Given the description of an element on the screen output the (x, y) to click on. 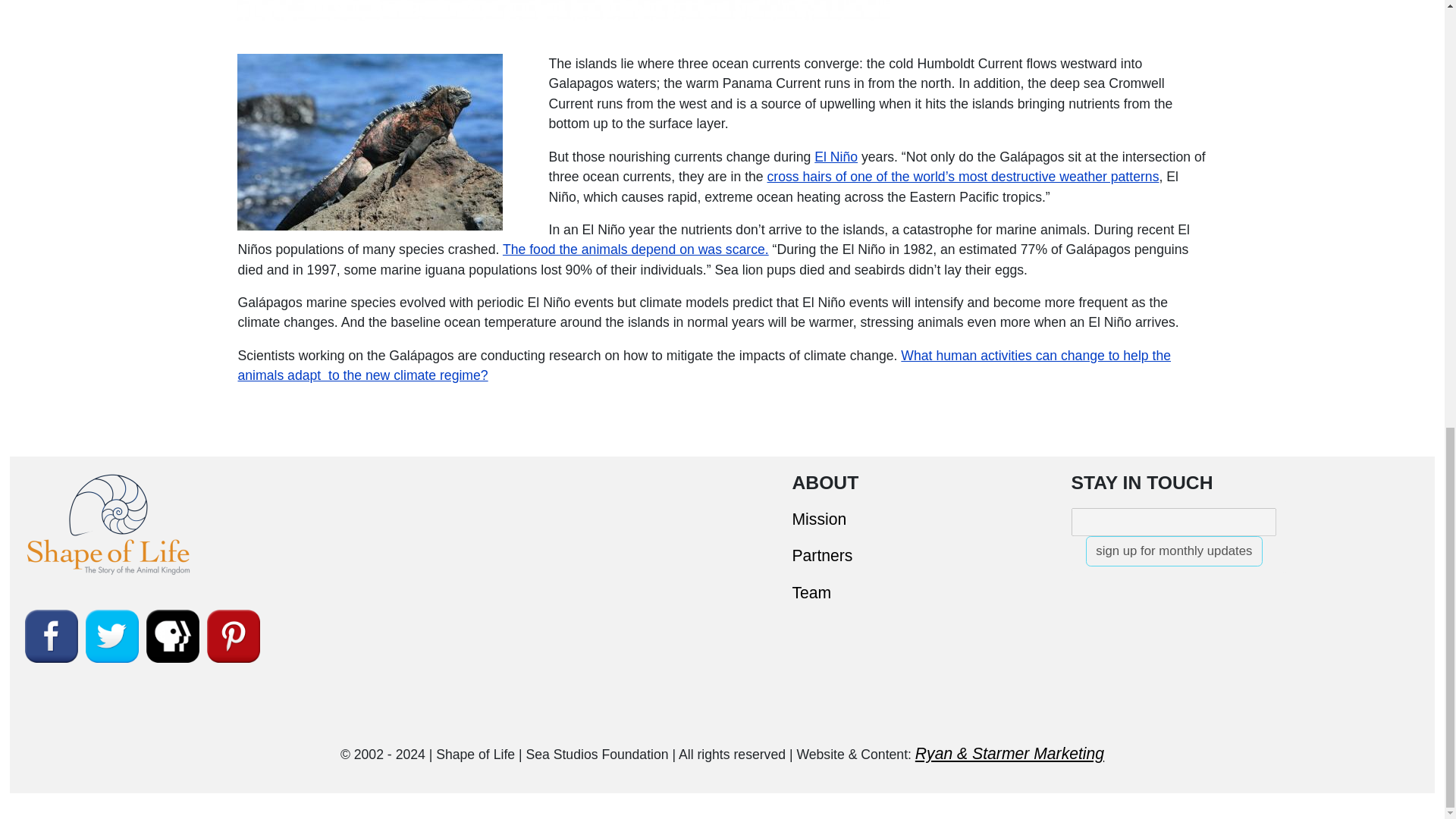
sign up for monthly updates (1174, 551)
